Given the description of an element on the screen output the (x, y) to click on. 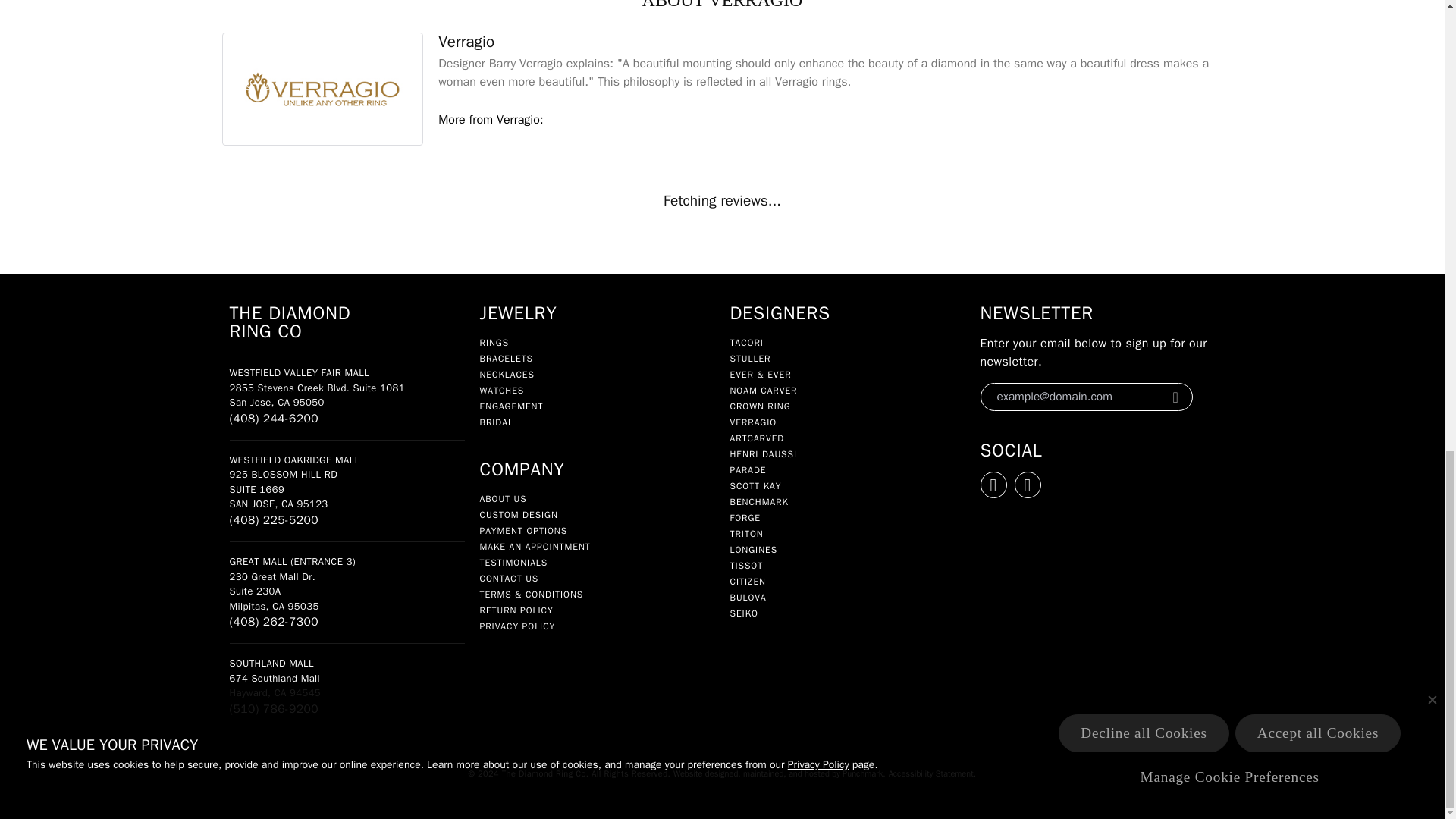
Enter your email address to subscribe (1074, 397)
